Given the description of an element on the screen output the (x, y) to click on. 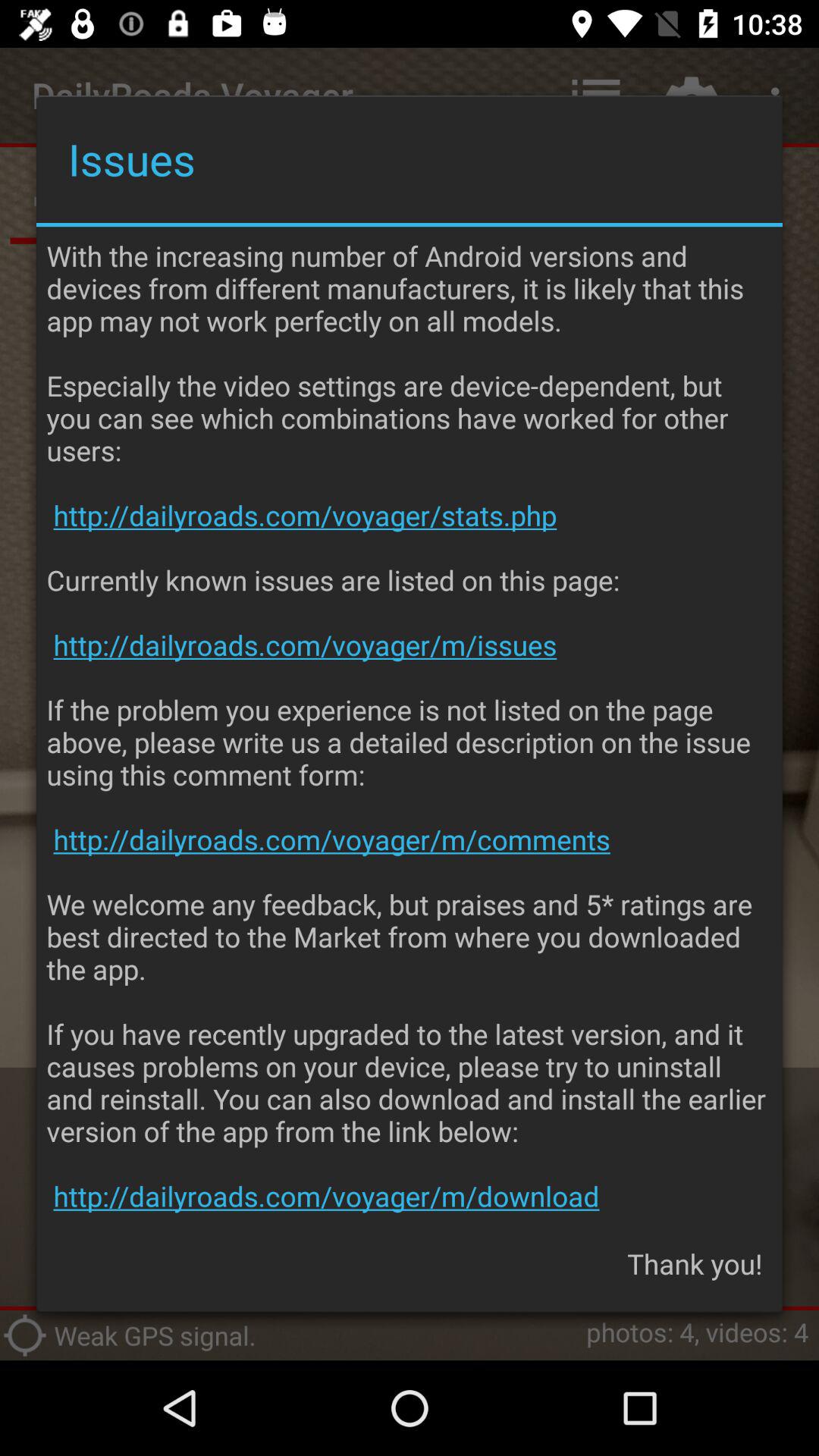
turn off item at the center (409, 725)
